Given the description of an element on the screen output the (x, y) to click on. 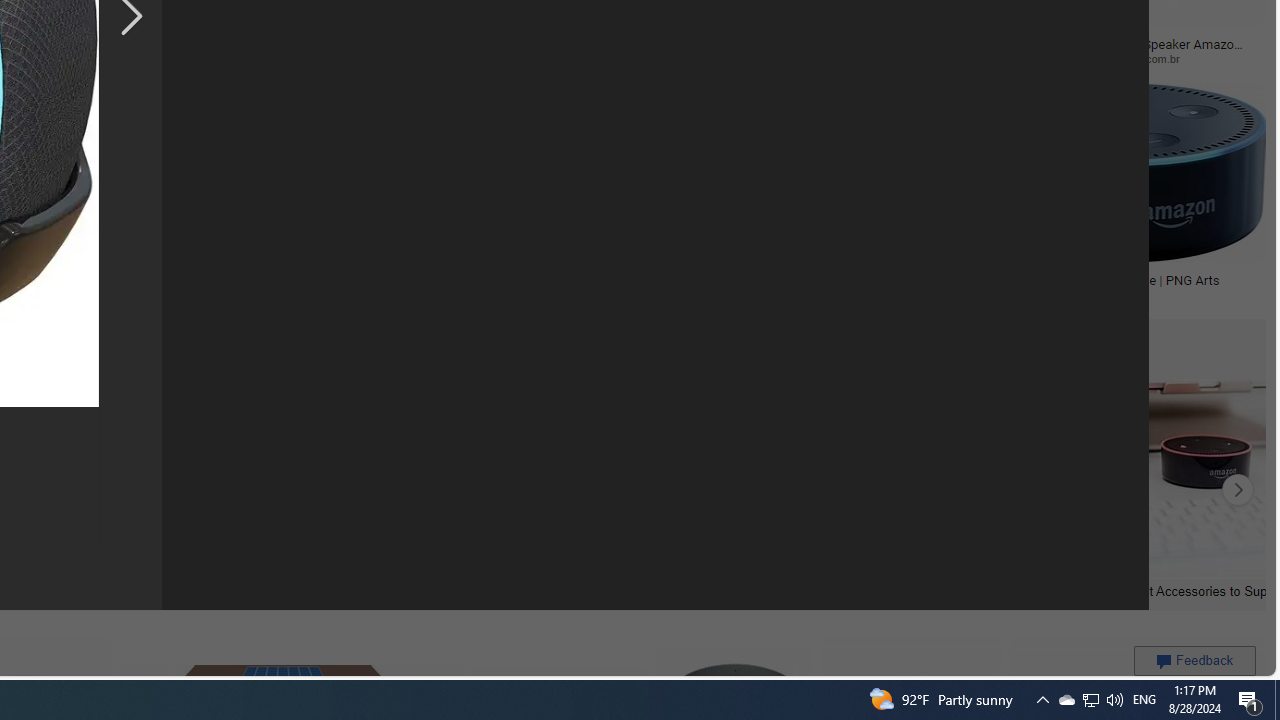
Image result for Amazon Echo Dot PNG (1122, 172)
Amazon.com: echo dot accessories (909, 589)
pnghq.com (741, 294)
pngkey.com (258, 58)
currys.co.uk (559, 294)
Amazon Echo - Always ready, connected and fast. Just ask. (603, 286)
avenidatecnologica.com (960, 58)
Amazon Echo Dot Kids Edition - 5th Generation (117, 286)
Alexa Dot Transparent Image | PNG Arts (1104, 279)
currys.co.uk (602, 295)
